Given the description of an element on the screen output the (x, y) to click on. 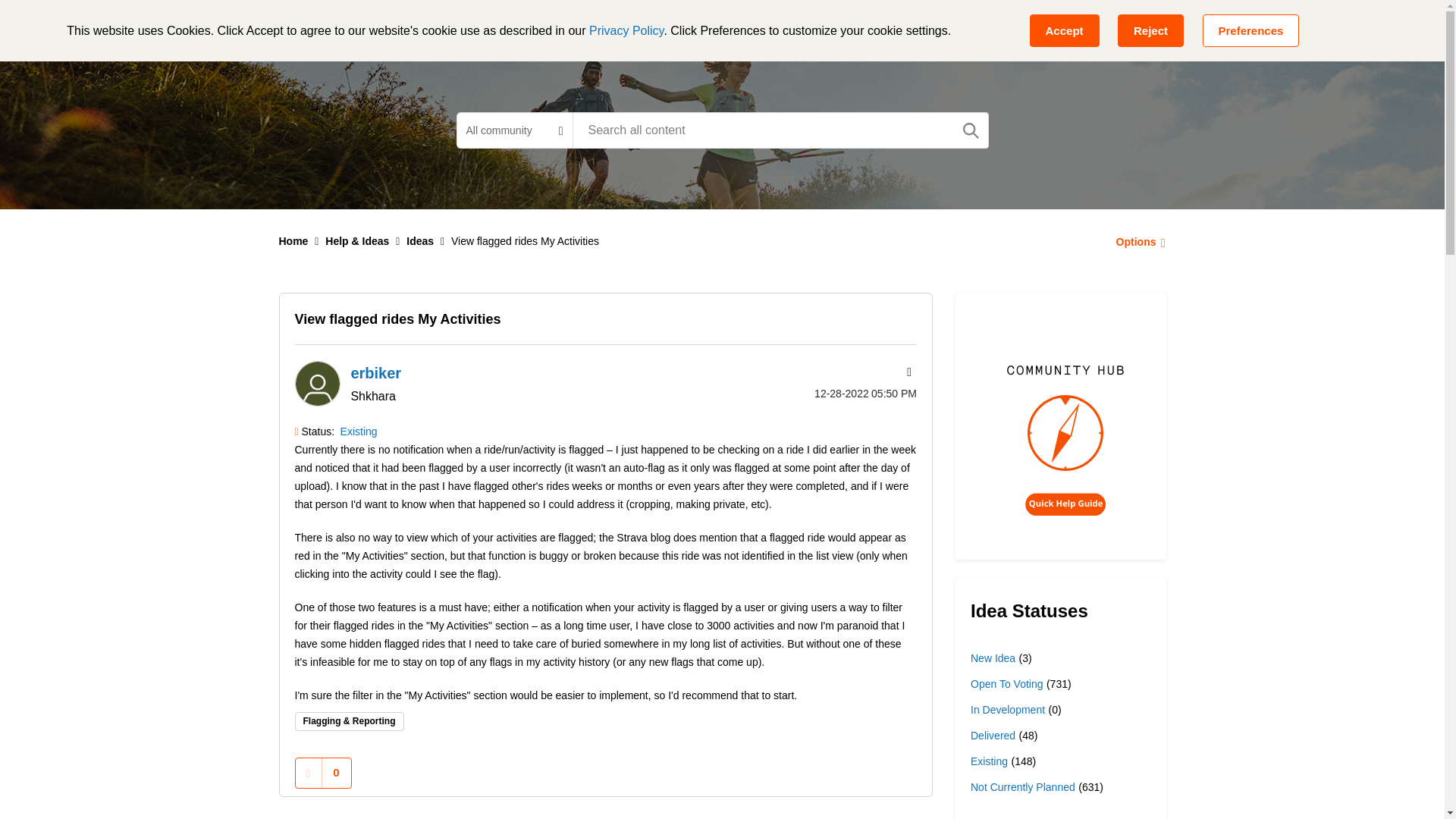
Options (1136, 241)
Privacy Policy (626, 30)
Developers (680, 25)
View flagged rides My Activities (397, 319)
Reject (1150, 30)
Basecamp (497, 25)
Home (293, 241)
Ideas (419, 241)
erbiker (316, 383)
